Given the description of an element on the screen output the (x, y) to click on. 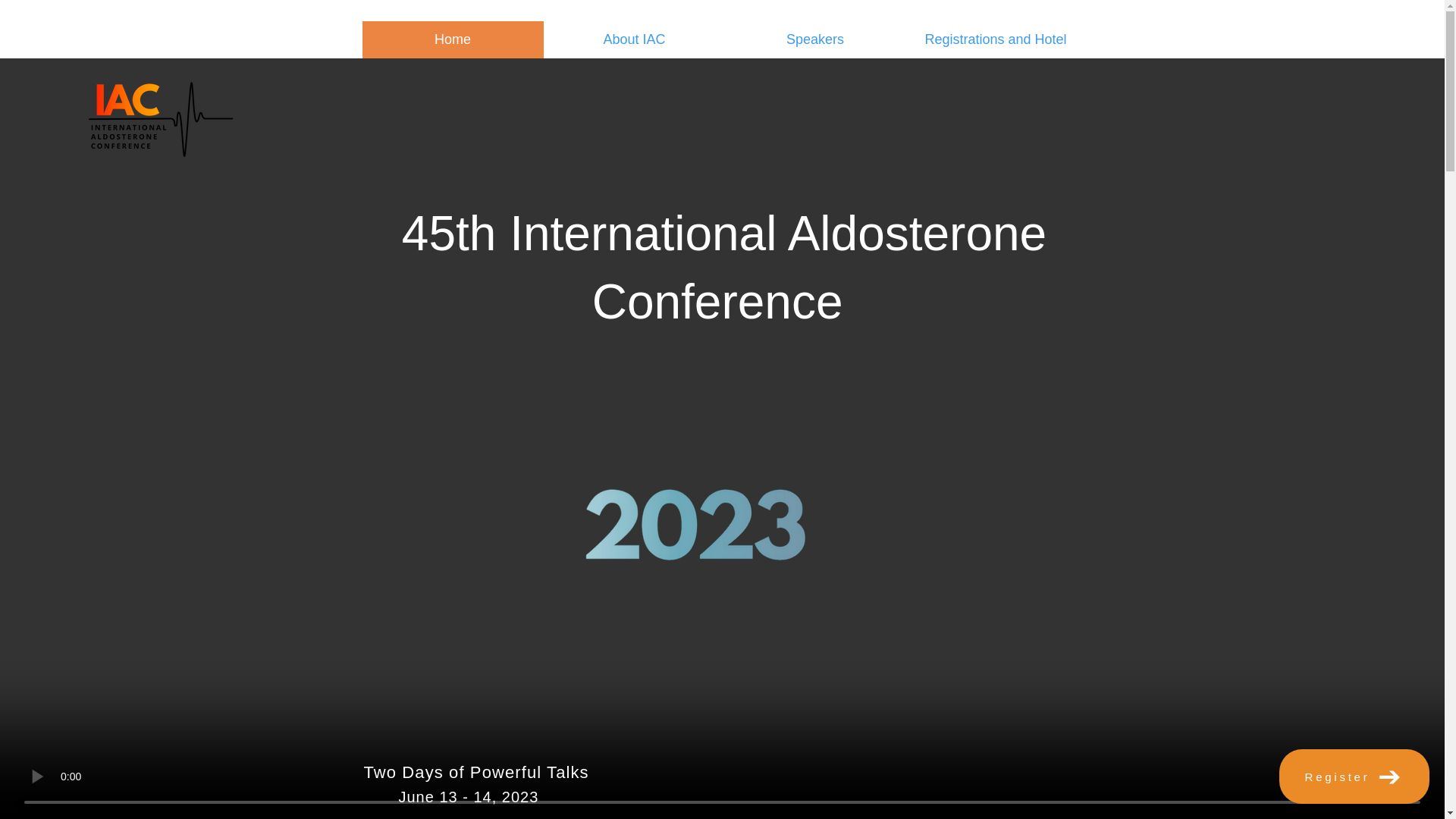
Register (1354, 776)
Registrations and Hotel (995, 39)
Speakers (815, 39)
About IAC (633, 39)
Home (452, 39)
